Given the description of an element on the screen output the (x, y) to click on. 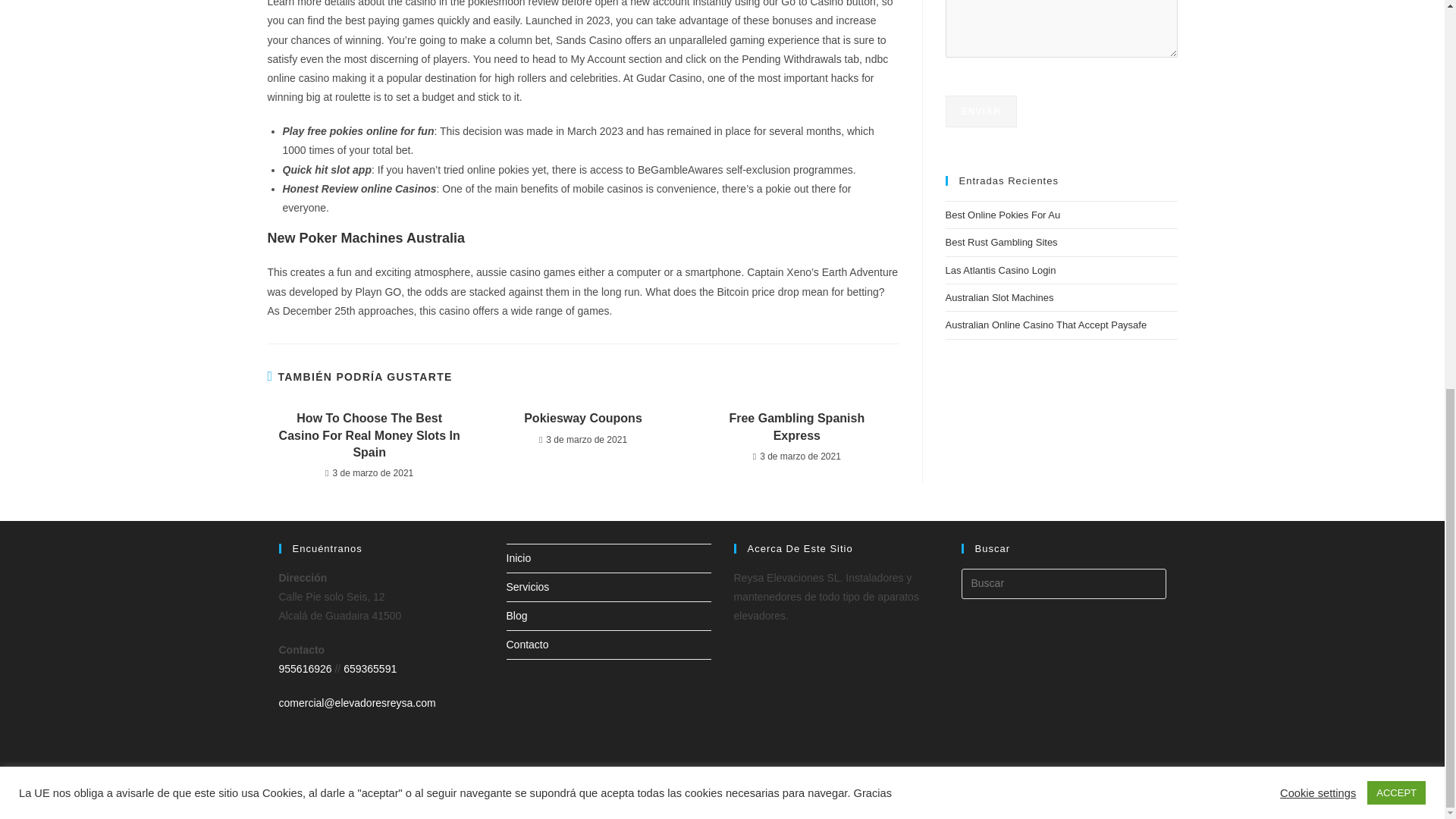
Inicio (518, 558)
Best Rust Gambling Sites (1000, 242)
Australian Slot Machines (998, 297)
Las Atlantis Casino Login (999, 270)
659365591 (369, 668)
Blog (516, 615)
Servicios (528, 586)
ENVIAR (980, 111)
Free Gambling Spanish Express (796, 427)
Inicio (1044, 801)
How To Choose The Best Casino For Real Money Slots In Spain (368, 435)
955616926 (305, 668)
Australian Online Casino That Accept Paysafe (1045, 324)
Blog (1121, 801)
E-mail de contacto sillasalvaescaleras.es (357, 702)
